Given the description of an element on the screen output the (x, y) to click on. 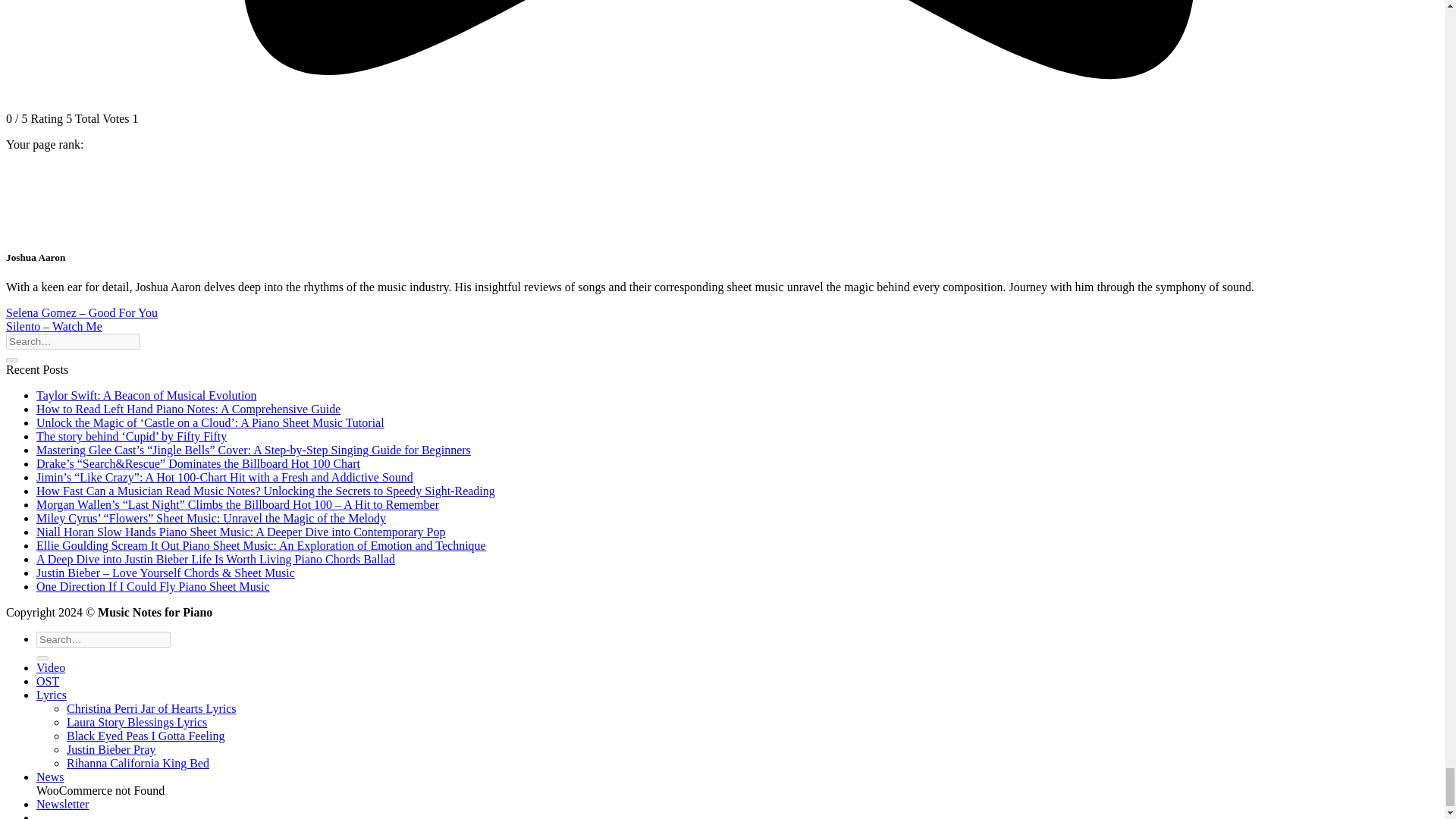
Taylor Swift: A Beacon of Musical Evolution (146, 395)
How to Read Left Hand Piano Notes: A Comprehensive Guide (188, 408)
Sign up for Newsletter (62, 803)
